Given the description of an element on the screen output the (x, y) to click on. 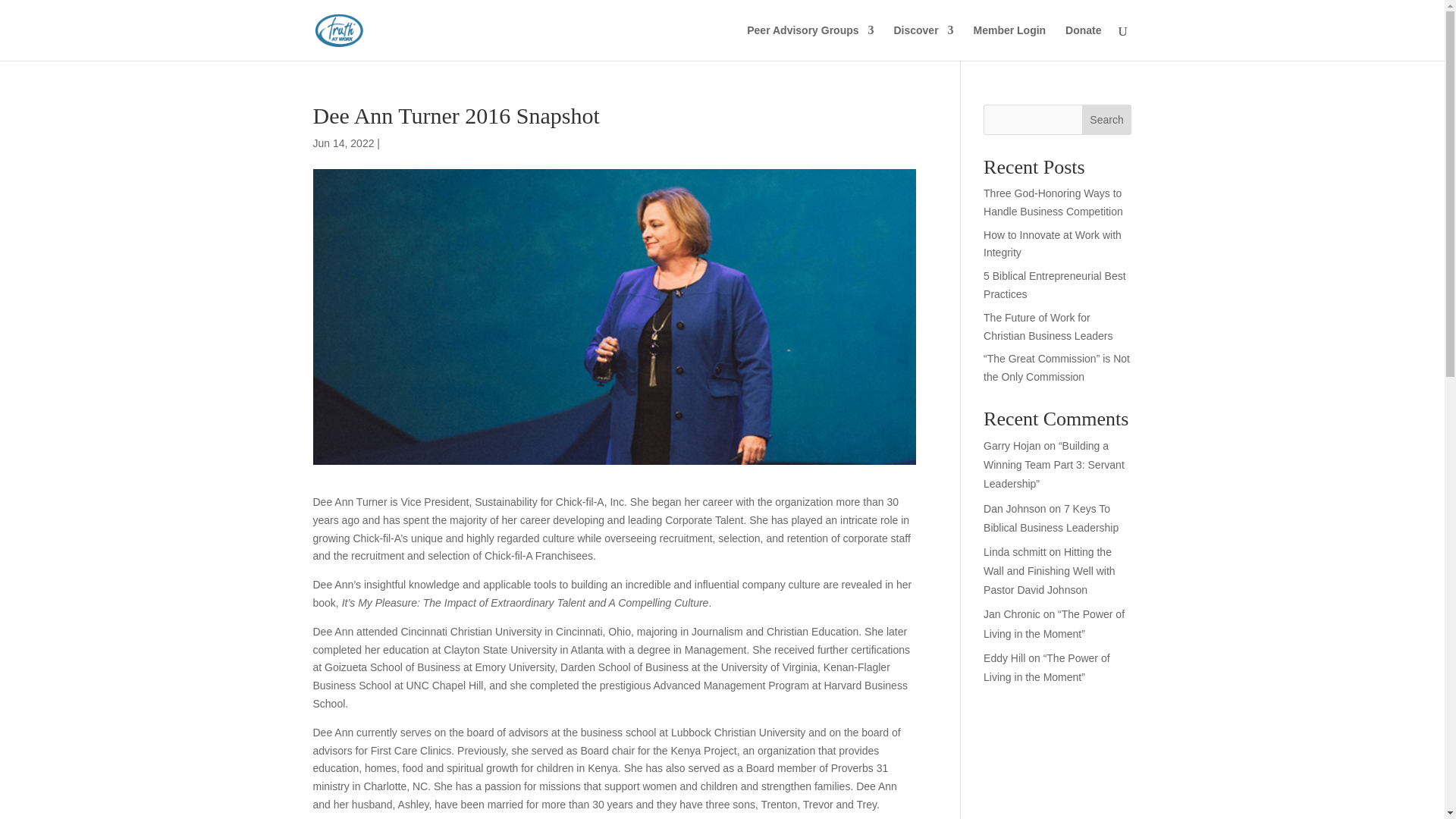
Eddy Hill (1004, 657)
5 Biblical Entrepreneurial Best Practices (1054, 285)
Member Login (1008, 42)
Peer Advisory Groups (809, 42)
7 Keys To Biblical Business Leadership (1051, 517)
Search (1106, 119)
The Future of Work for Christian Business Leaders (1048, 327)
How to Innovate at Work with Integrity (1052, 244)
Donate (1082, 42)
Three God-Honoring Ways to Handle Business Competition (1053, 202)
Discover (923, 42)
